Given the description of an element on the screen output the (x, y) to click on. 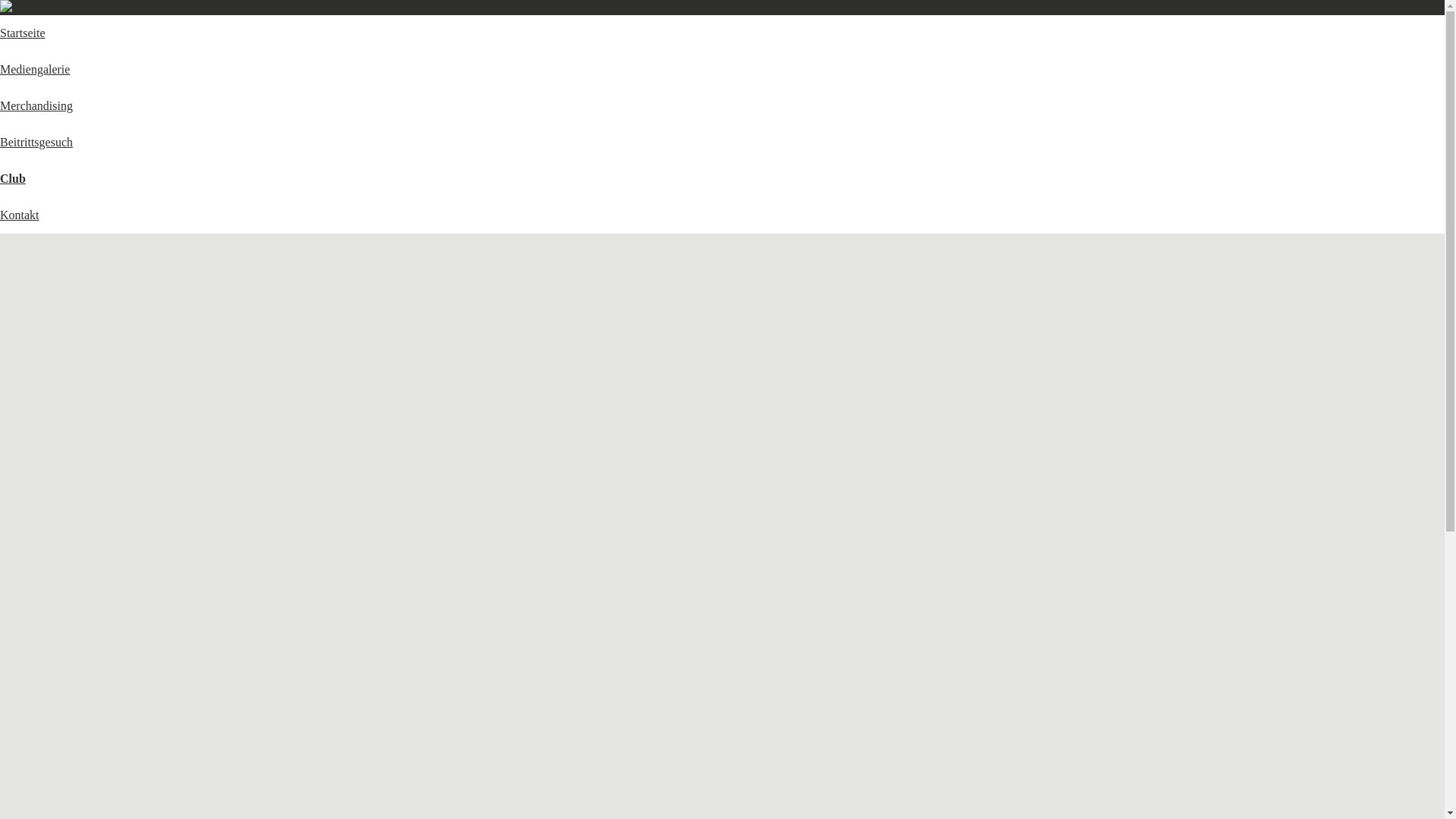
Startseite Element type: text (22, 32)
Club Element type: text (12, 178)
Mediengalerie Element type: text (34, 68)
Beitrittsgesuch Element type: text (36, 141)
Kontakt Element type: text (19, 214)
Merchandising Element type: text (36, 105)
